Given the description of an element on the screen output the (x, y) to click on. 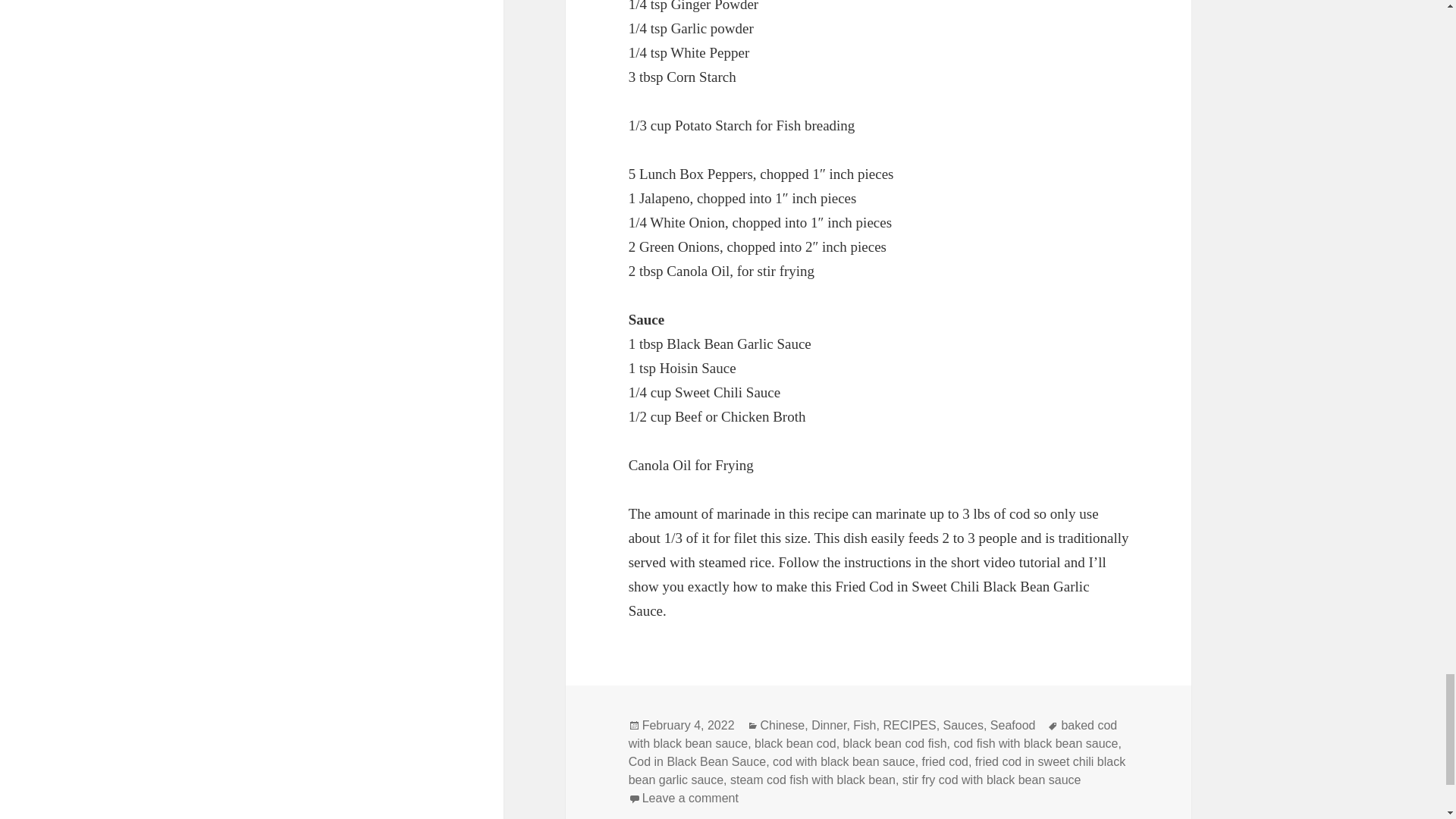
Sauces (963, 725)
RECIPES (909, 725)
Fish (864, 725)
February 4, 2022 (688, 725)
Chinese (782, 725)
Seafood (1012, 725)
cod fish with black bean sauce (1035, 744)
black bean cod fish (895, 744)
Dinner (827, 725)
black bean cod (794, 744)
baked cod with black bean sauce (873, 735)
